Given the description of an element on the screen output the (x, y) to click on. 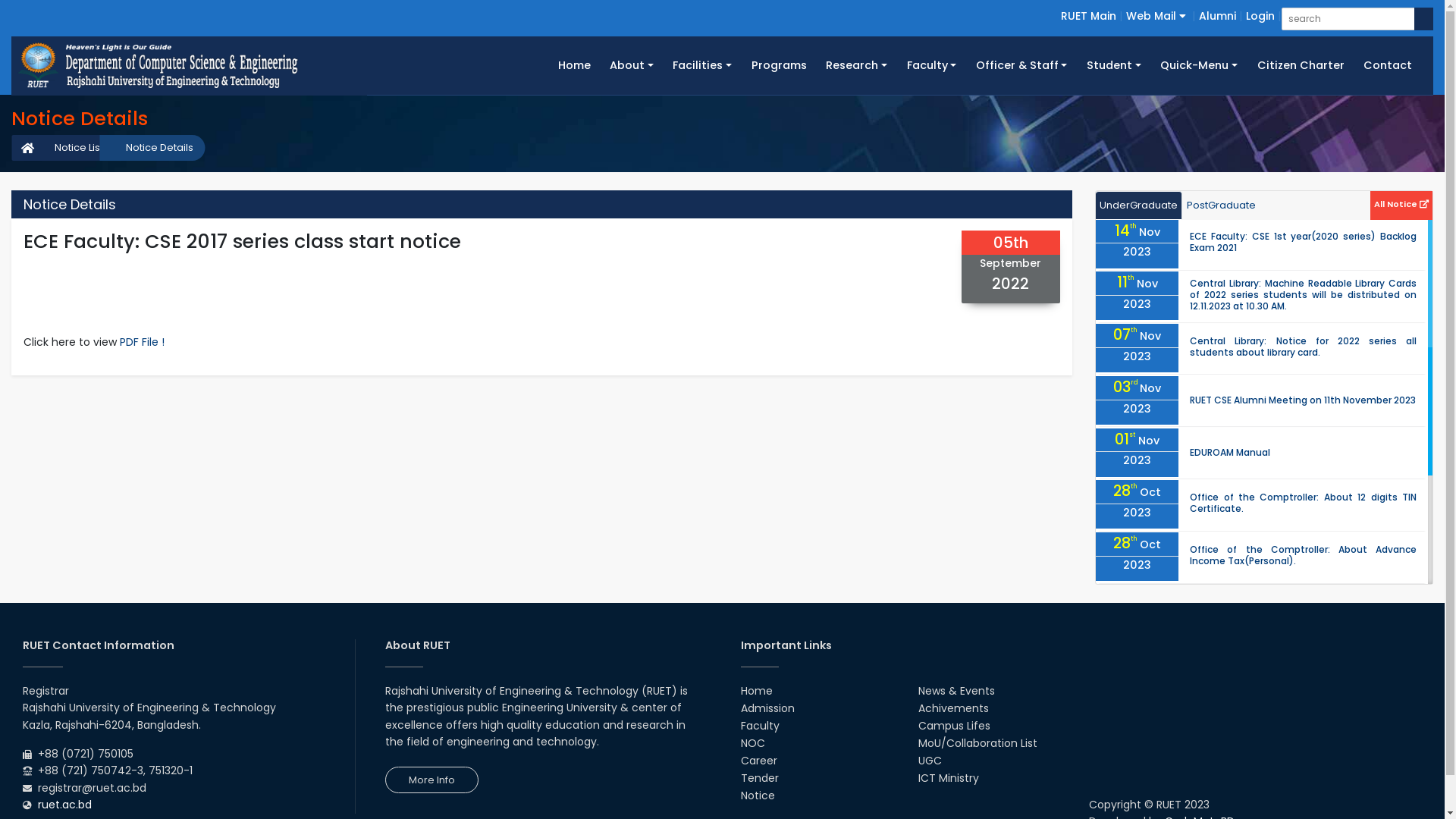
ICT Ministry Element type: text (948, 777)
Security Section: Notice for security purpose. Element type: text (1294, 608)
ECE Faculty: CSE 1st year(2020 series) Backlog Exam 2021 Element type: text (1302, 241)
Notice List Element type: text (71, 147)
Office of the Comptroller: About 12 digits TIN Certificate. Element type: text (1302, 502)
Student Element type: text (1113, 65)
Notice Details Element type: text (151, 147)
Alumni Element type: text (1217, 15)
Campus Lifes Element type: text (954, 725)
All Notice Element type: text (1401, 203)
Home Element type: text (755, 690)
About Element type: text (630, 65)
RUET CSE Alumni Meeting on 11th November 2023 Element type: text (1302, 399)
Faculty Element type: text (759, 725)
PostGraduate Element type: text (1221, 205)
More Info Element type: text (431, 779)
Login Element type: text (1259, 15)
UnderGraduate Element type: text (1138, 205)
Home
(Current) Element type: text (574, 65)
Quick-Menu Element type: text (1199, 65)
Faculty Element type: text (931, 65)
NOC Element type: text (752, 742)
Web Mail Element type: text (1156, 15)
Citizen Charter Element type: text (1300, 65)
Programs Element type: text (778, 65)
Facilities Element type: text (702, 65)
Contact Element type: text (1387, 65)
Officer & Staff Element type: text (1021, 65)
Career Element type: text (758, 760)
News & Events Element type: text (956, 690)
Research Element type: text (855, 65)
EDUROAM Manual Element type: text (1229, 452)
UGC Element type: text (929, 760)
ruet.ac.bd Element type: text (64, 804)
Notice Element type: text (757, 795)
MoU/Collaboration List Element type: text (977, 742)
RUET Main Element type: text (1088, 15)
Admission Element type: text (766, 707)
PDF File ! Element type: text (141, 341)
Achivements Element type: text (953, 707)
Tender Element type: text (759, 777)
